Given the description of an element on the screen output the (x, y) to click on. 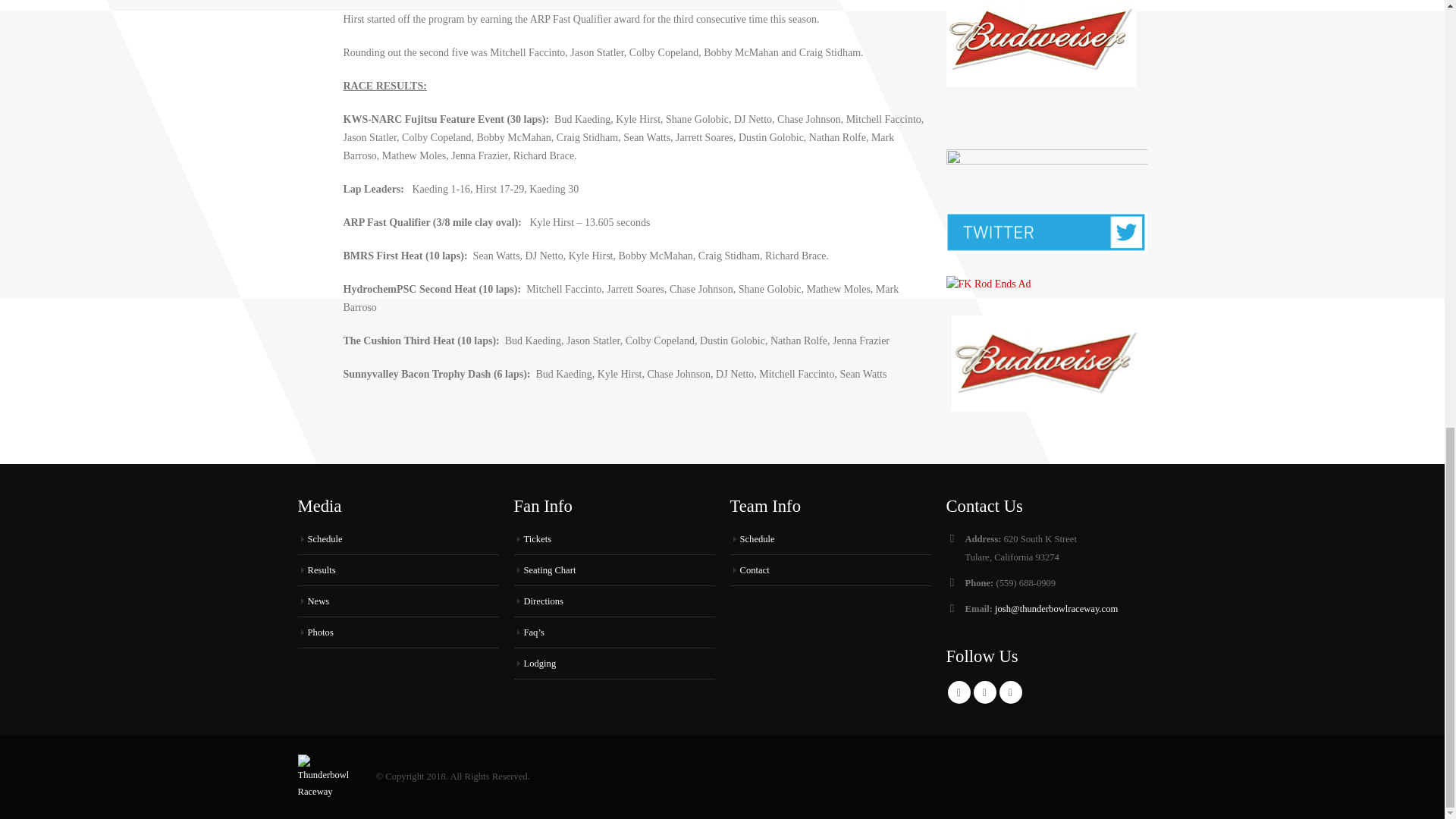
Thunderbowl Raceway - Exciting Sprint Car Racing (327, 776)
FK Rod Ends Ad (988, 284)
